Given the description of an element on the screen output the (x, y) to click on. 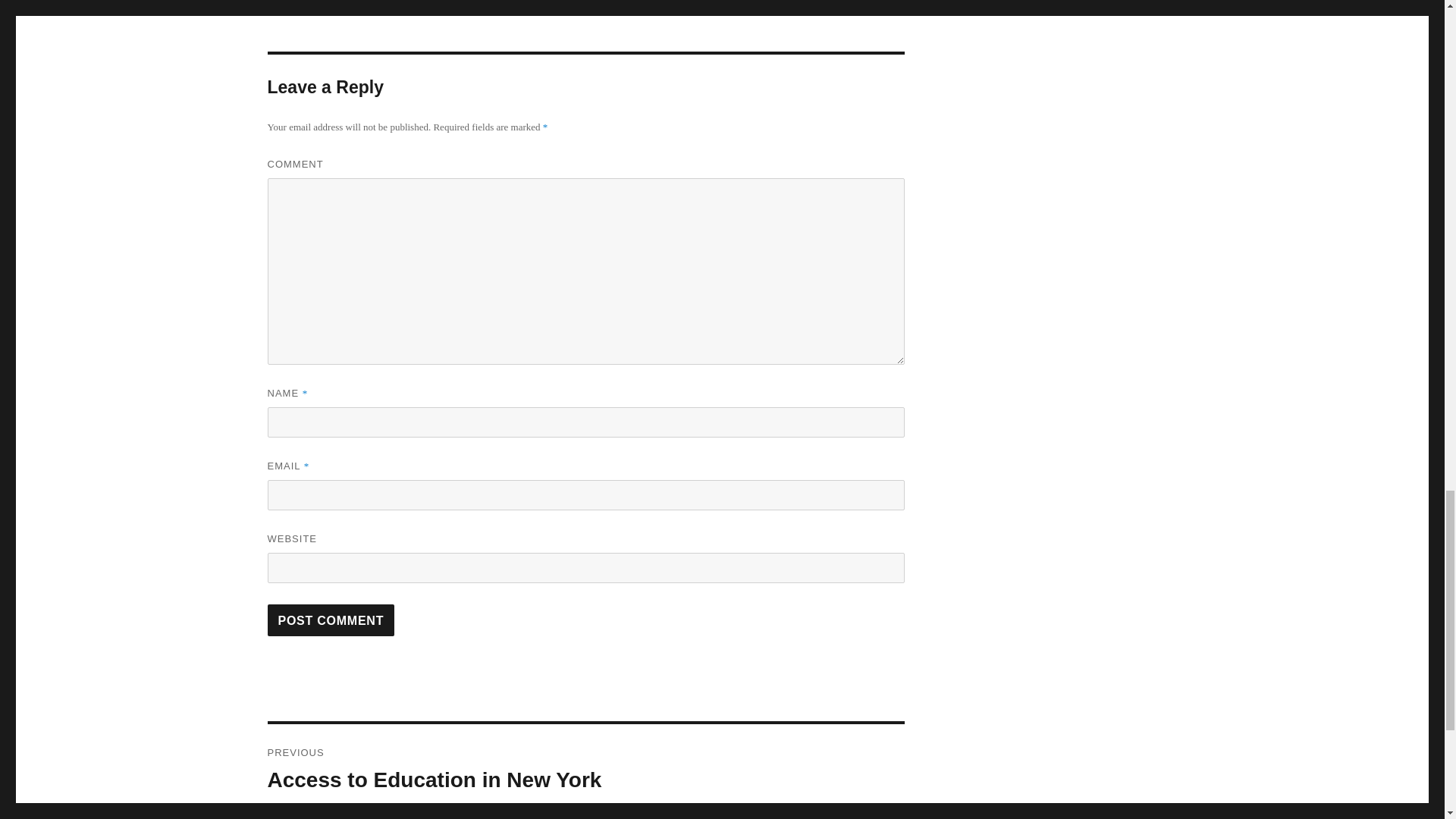
Post Comment (585, 768)
